Given the description of an element on the screen output the (x, y) to click on. 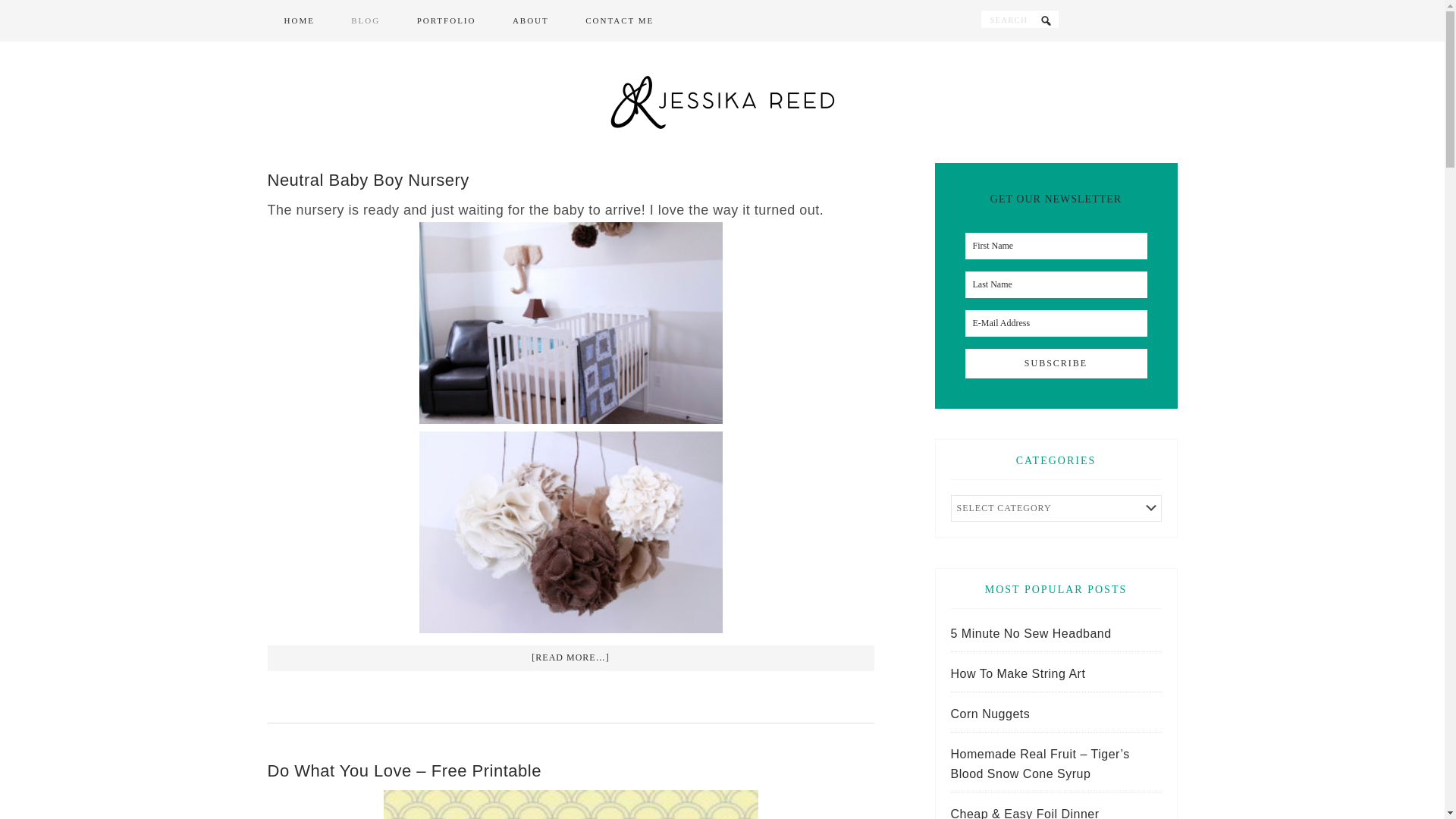
PORTFOLIO (446, 20)
BLOG (365, 20)
Subscribe (1055, 363)
HOME (298, 20)
ABOUT (531, 20)
